Given the description of an element on the screen output the (x, y) to click on. 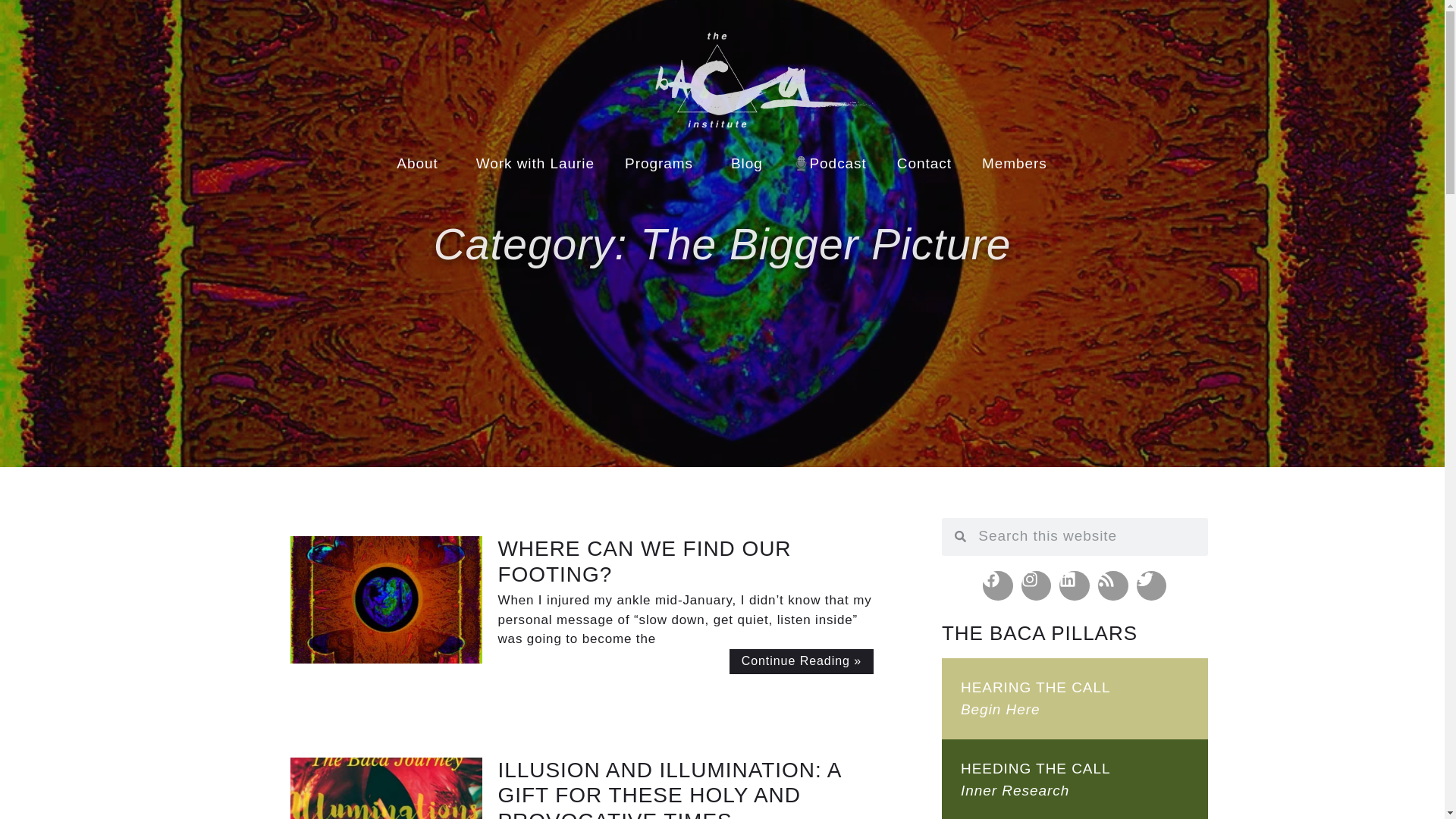
Work with Laurie (535, 163)
Blog (746, 163)
Programs (663, 163)
Members (1014, 163)
Podcast (829, 163)
WHERE CAN WE FIND OUR FOOTING? (643, 561)
Contact (924, 163)
About (420, 163)
